Given the description of an element on the screen output the (x, y) to click on. 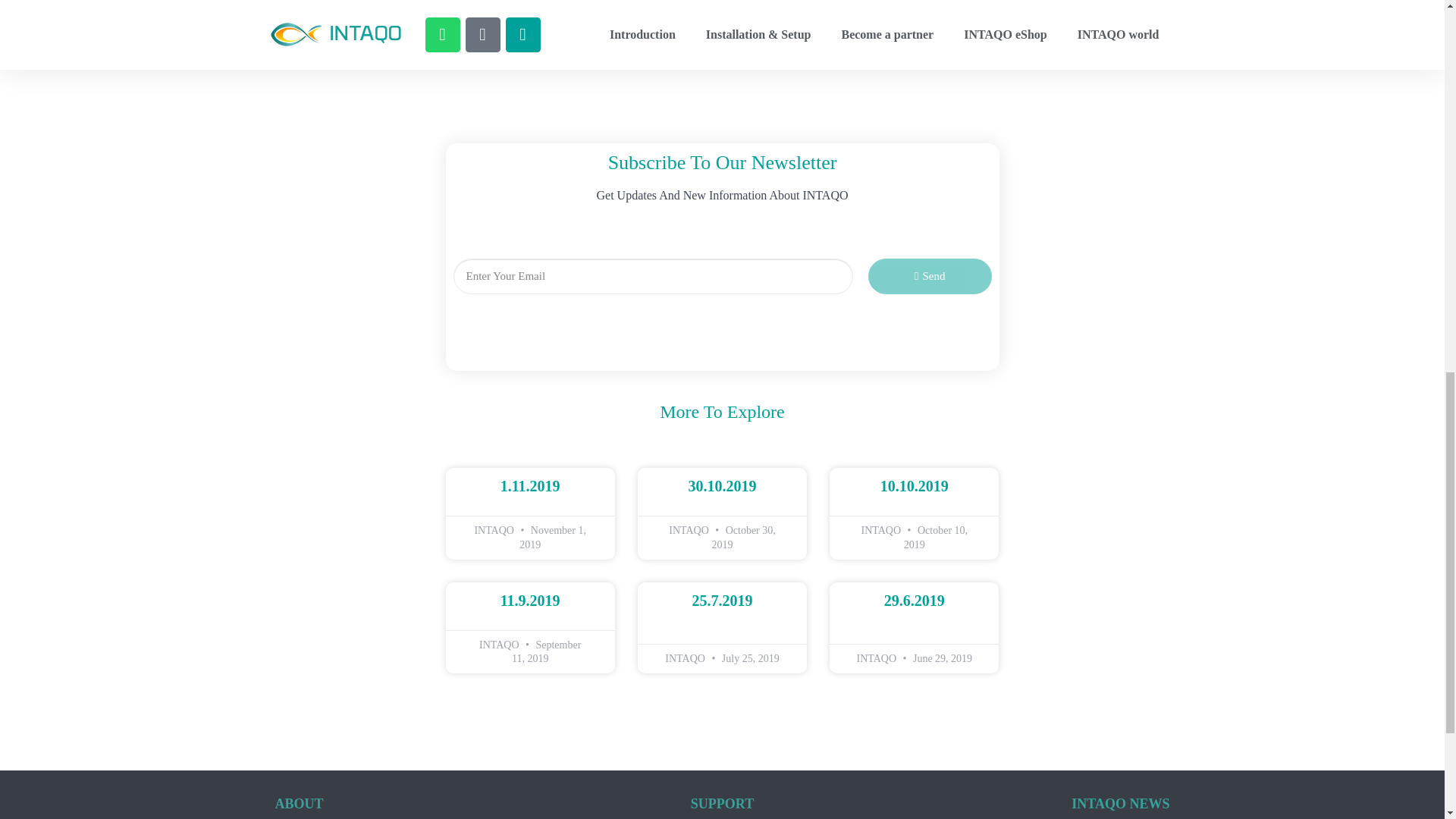
10.10.2019 (860, 35)
11.9.2019 (914, 485)
1.11.2019 (530, 600)
Send (530, 485)
29.6.2019 (929, 276)
30.10.2019 (583, 35)
25.7.2019 (913, 600)
